Given the description of an element on the screen output the (x, y) to click on. 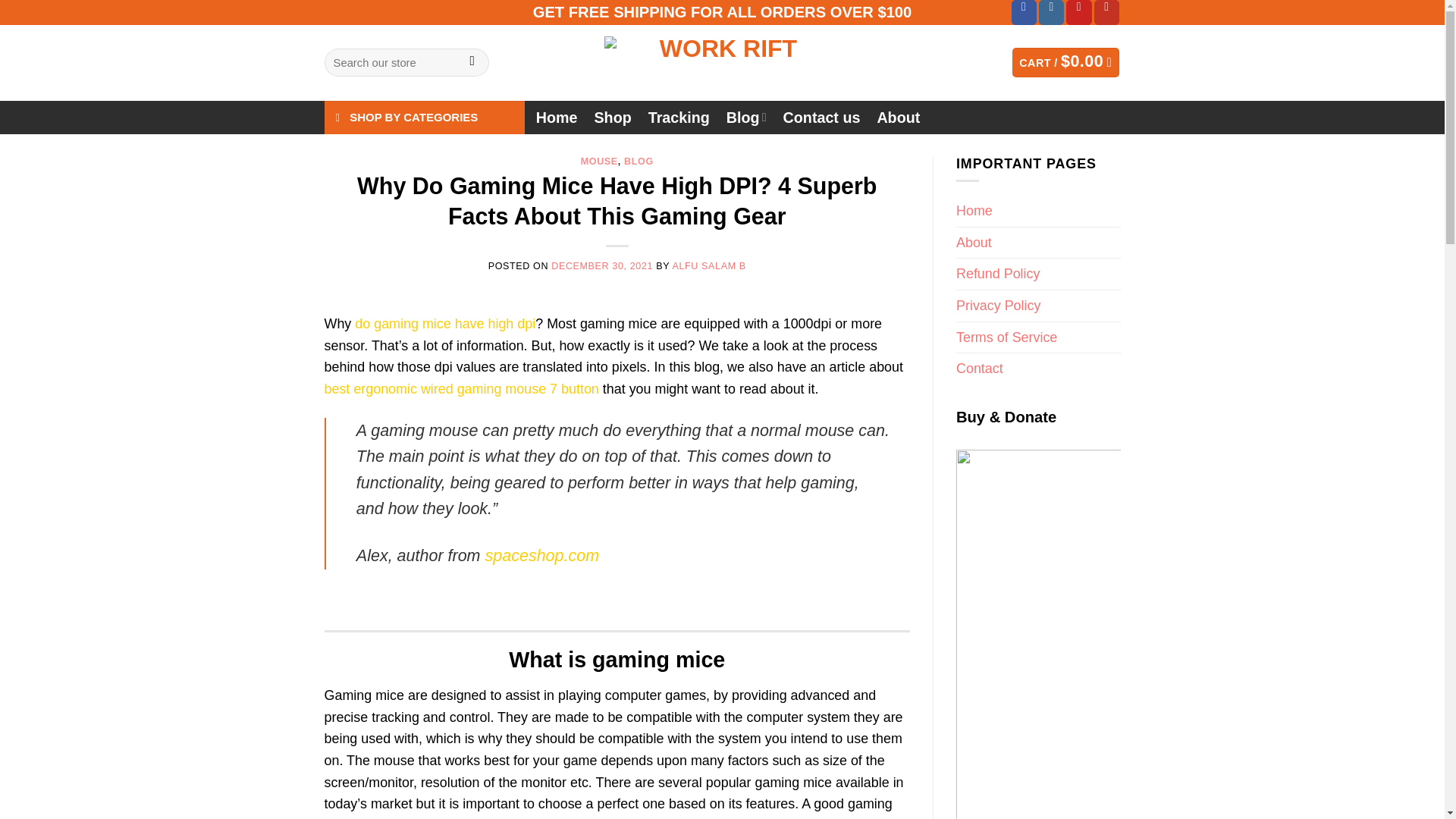
Blog (746, 117)
BLOG (638, 161)
Cart (1065, 61)
Follow on YouTube (1106, 12)
Work Rift - Gamer Gear Headquarters (722, 62)
Follow on Facebook (1023, 12)
Follow on Instagram (1051, 12)
DECEMBER 30, 2021 (601, 266)
Home (556, 117)
Tracking (678, 117)
